Given the description of an element on the screen output the (x, y) to click on. 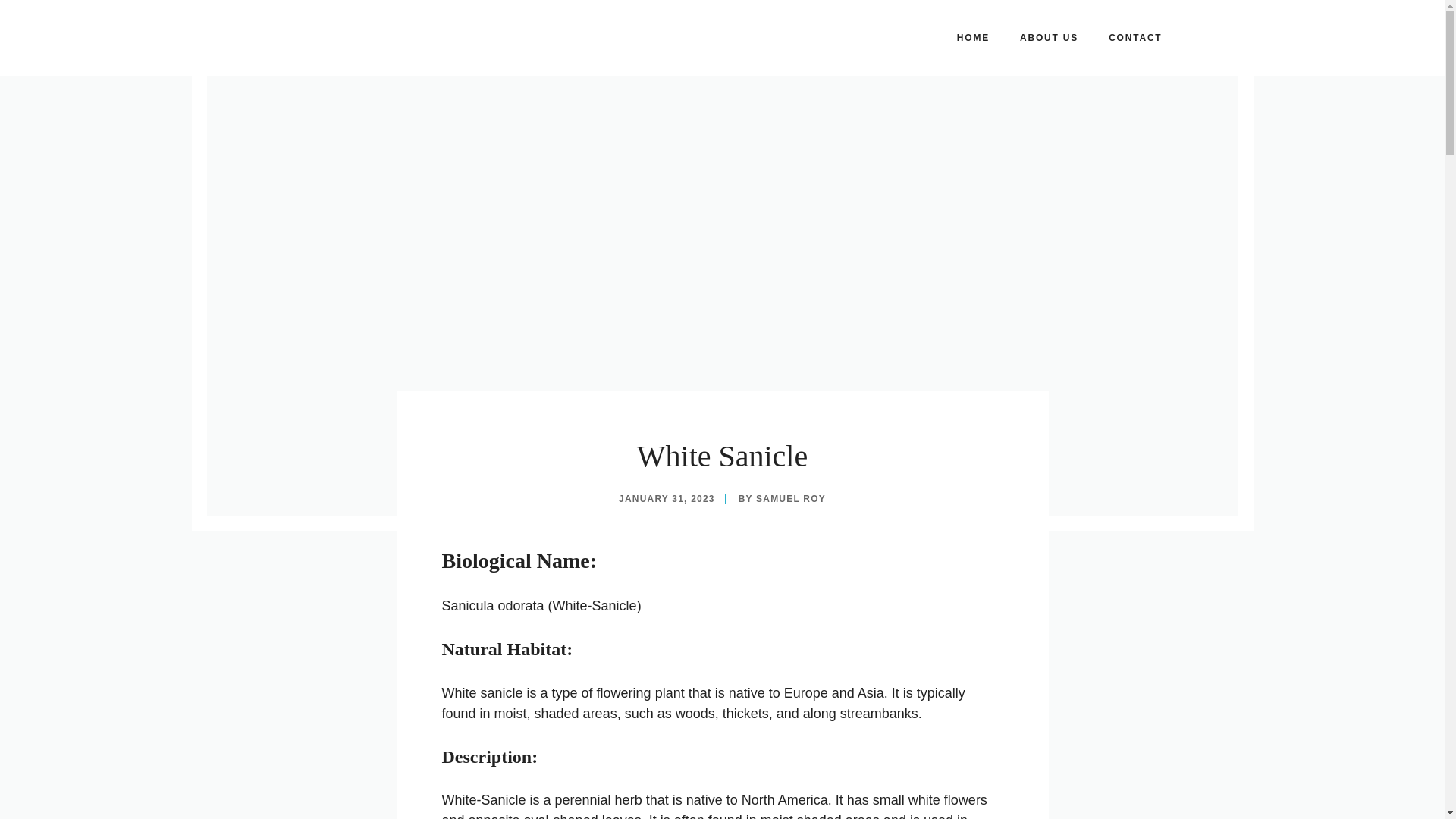
CONTACT (1134, 37)
SAMUEL ROY (790, 498)
HOME (973, 37)
ABOUT US (1048, 37)
